Given the description of an element on the screen output the (x, y) to click on. 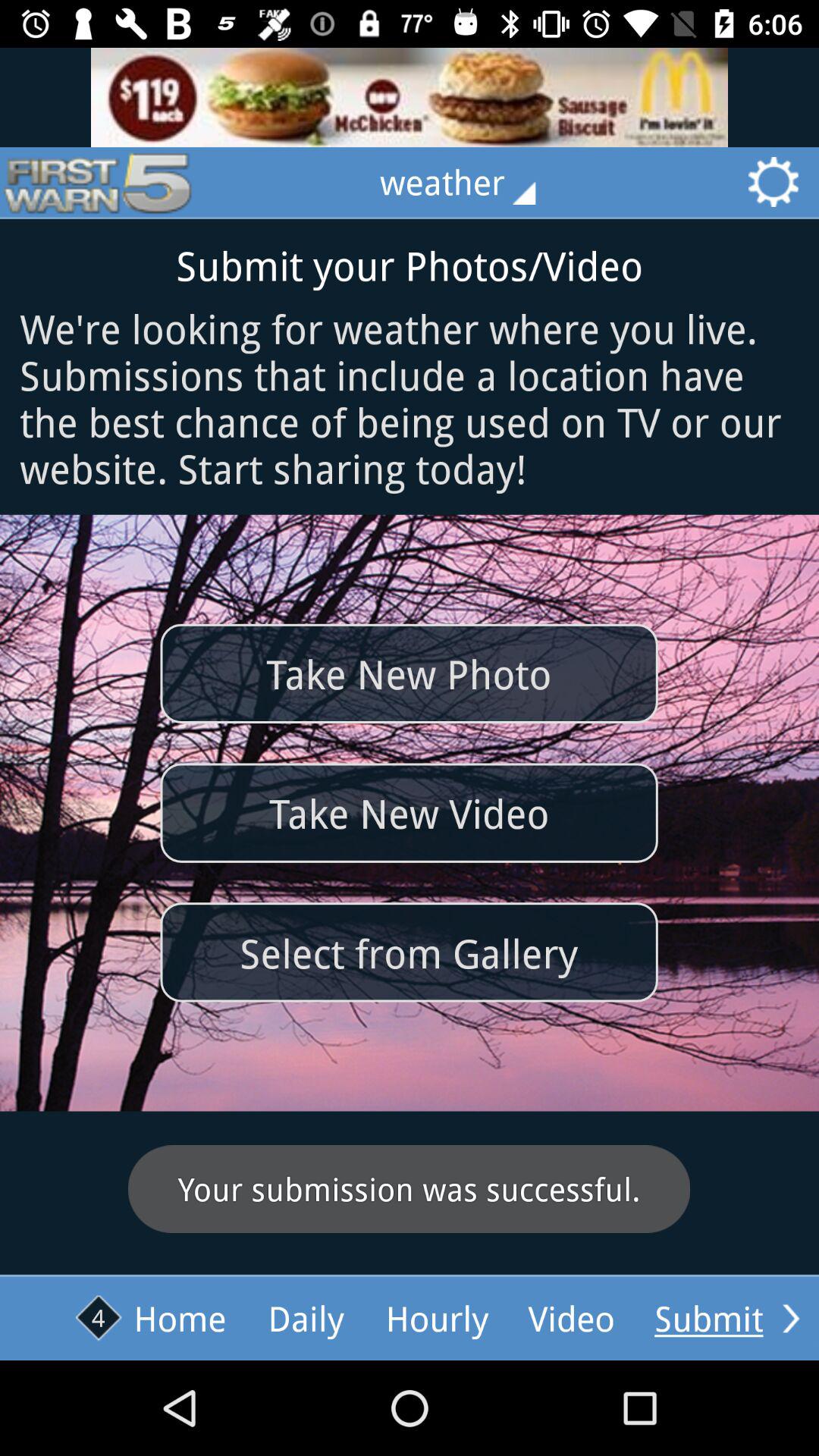
click discription (409, 97)
